Given the description of an element on the screen output the (x, y) to click on. 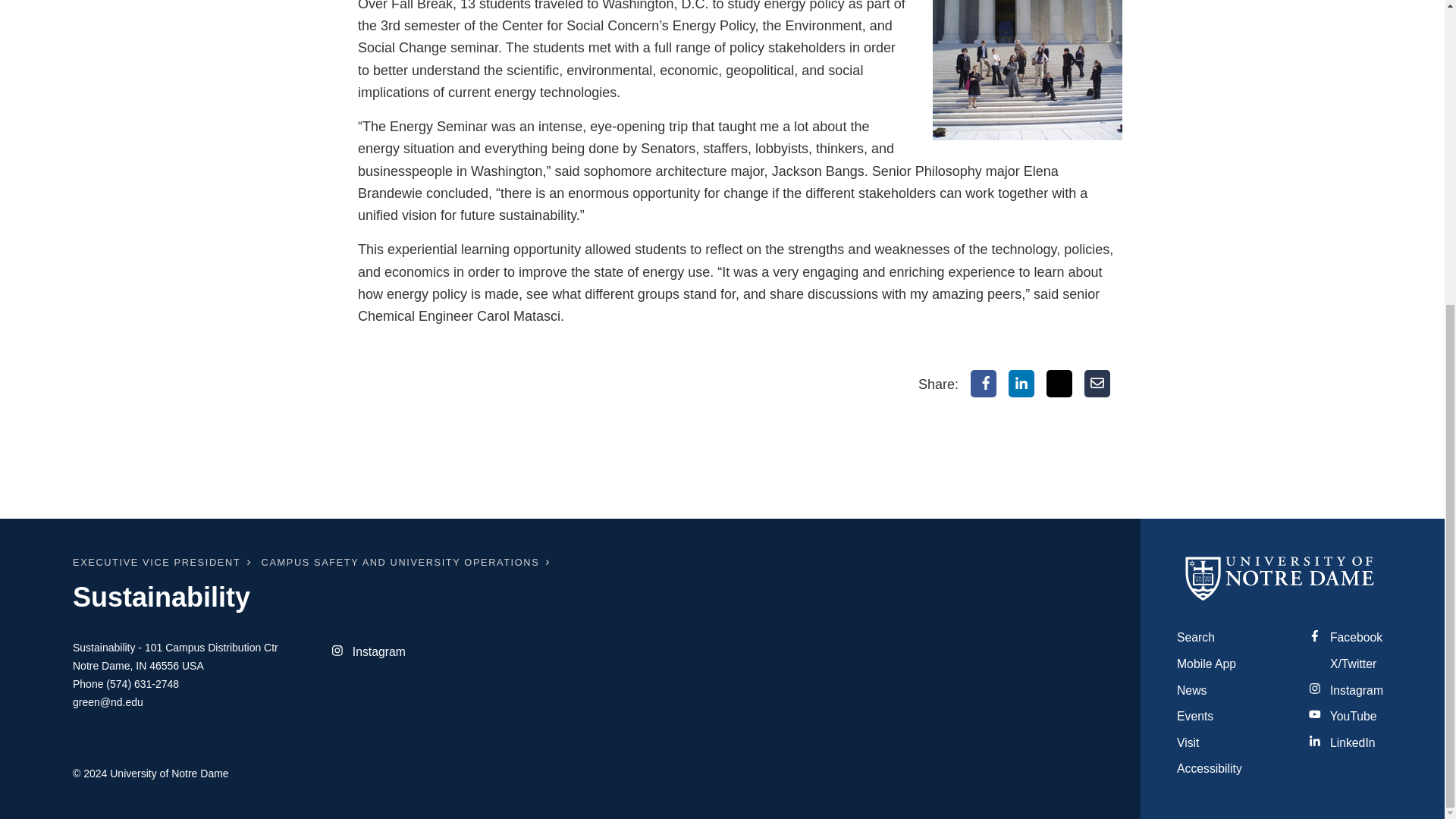
Facebook (983, 383)
LinkedIn (1021, 383)
Email (1096, 383)
